Given the description of an element on the screen output the (x, y) to click on. 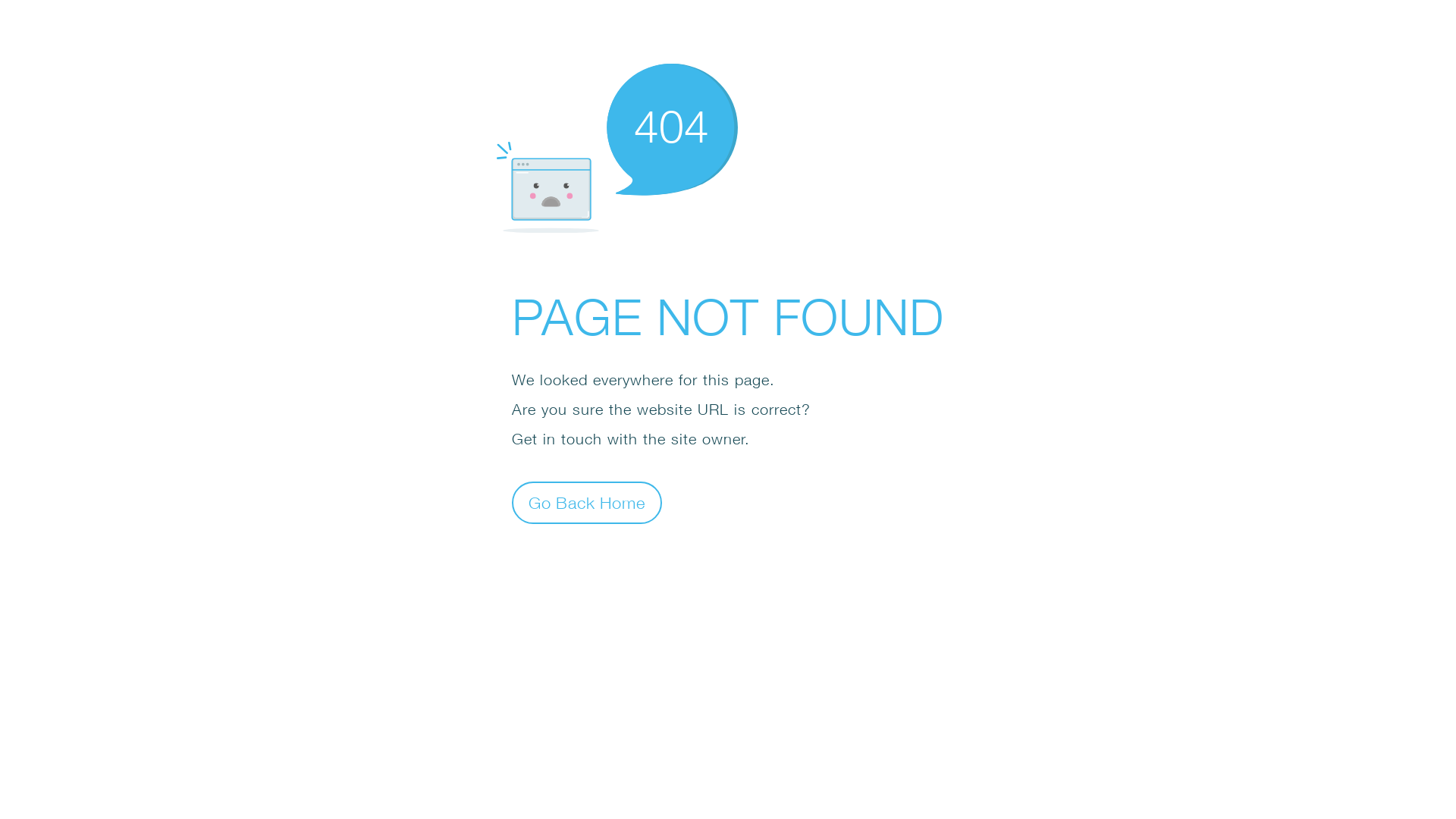
Go Back Home Element type: text (586, 502)
